Given the description of an element on the screen output the (x, y) to click on. 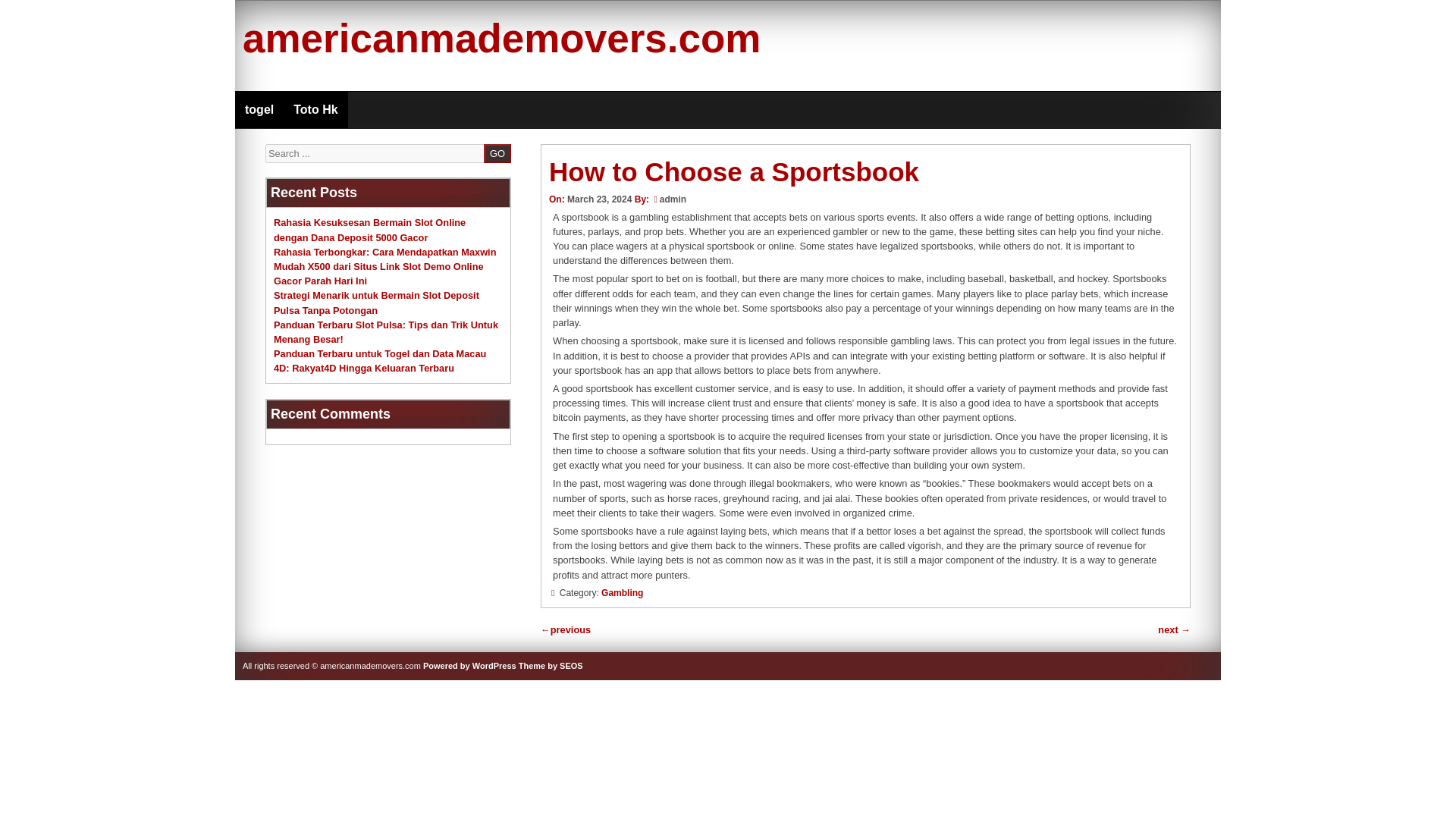
GO (497, 153)
GO (497, 153)
admin (672, 199)
GO (497, 153)
Seos free wordpress themes (550, 665)
americanmademovers.com (501, 37)
togel (258, 109)
Theme by SEOS (550, 665)
Powered by WordPress (469, 665)
March 23, 2024 (599, 199)
Toto Hk (315, 109)
